Given the description of an element on the screen output the (x, y) to click on. 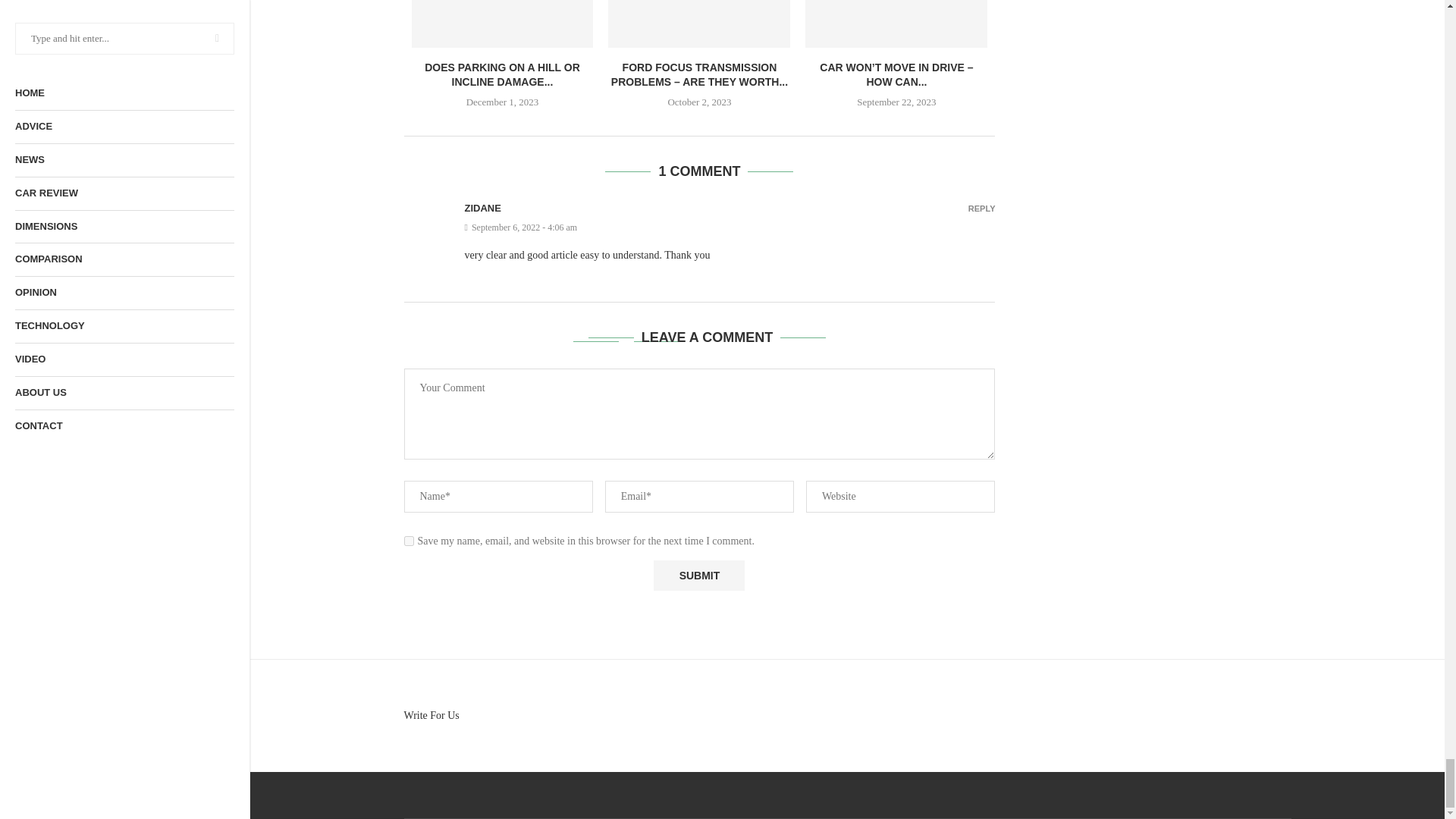
Submit (698, 575)
yes (408, 541)
